Given the description of an element on the screen output the (x, y) to click on. 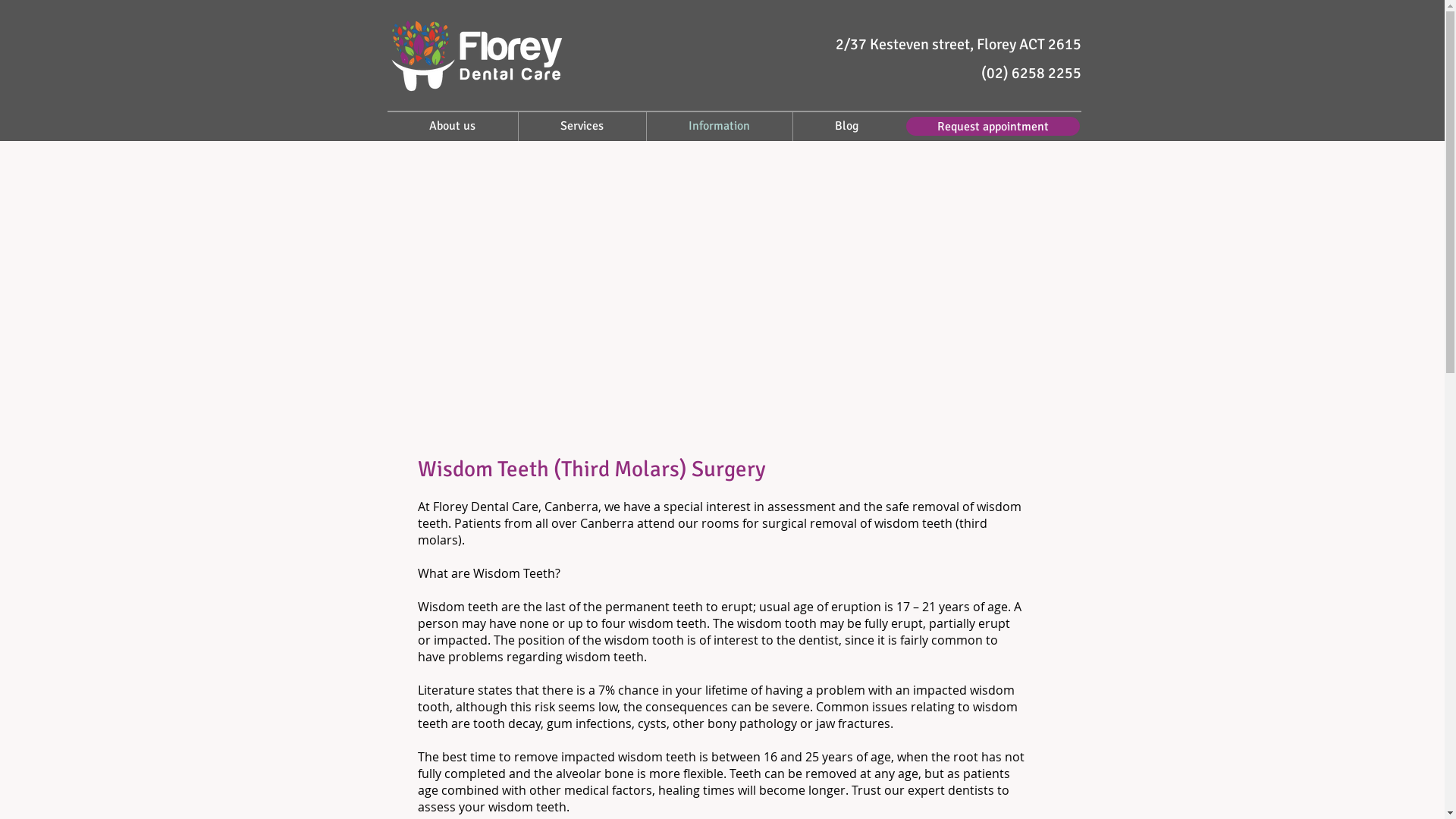
External YouTube Element type: hover (720, 303)
Blog Element type: text (846, 126)
Information Element type: text (718, 126)
About us Element type: text (451, 126)
Request appointment Element type: text (992, 125)
Services Element type: text (582, 126)
